Given the description of an element on the screen output the (x, y) to click on. 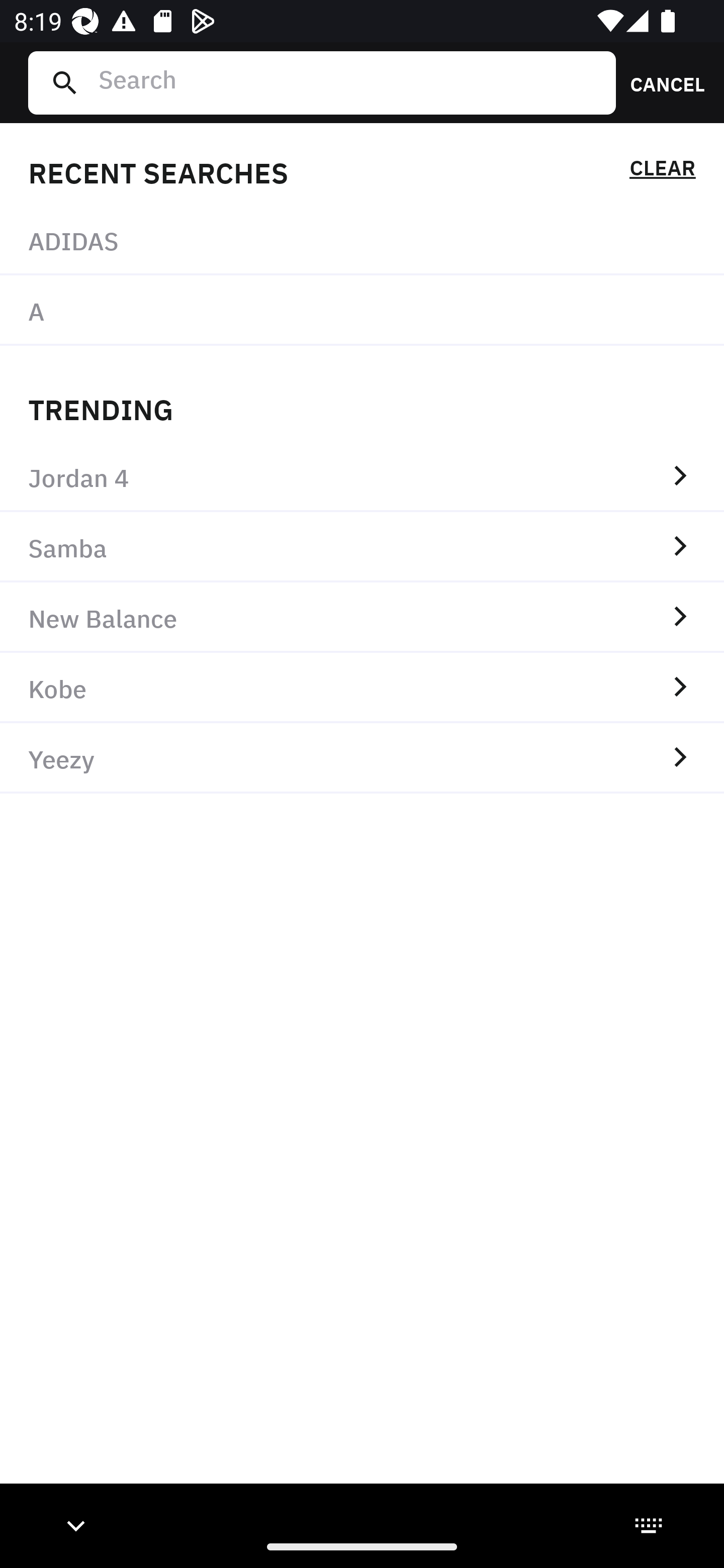
CANCEL (660, 82)
Search (349, 82)
CLEAR (662, 170)
ADIDAS (362, 240)
A (362, 310)
Jordan 4  (362, 477)
Samba  (362, 546)
New Balance  (362, 616)
Kobe  (362, 687)
Yeezy  (362, 757)
